Given the description of an element on the screen output the (x, y) to click on. 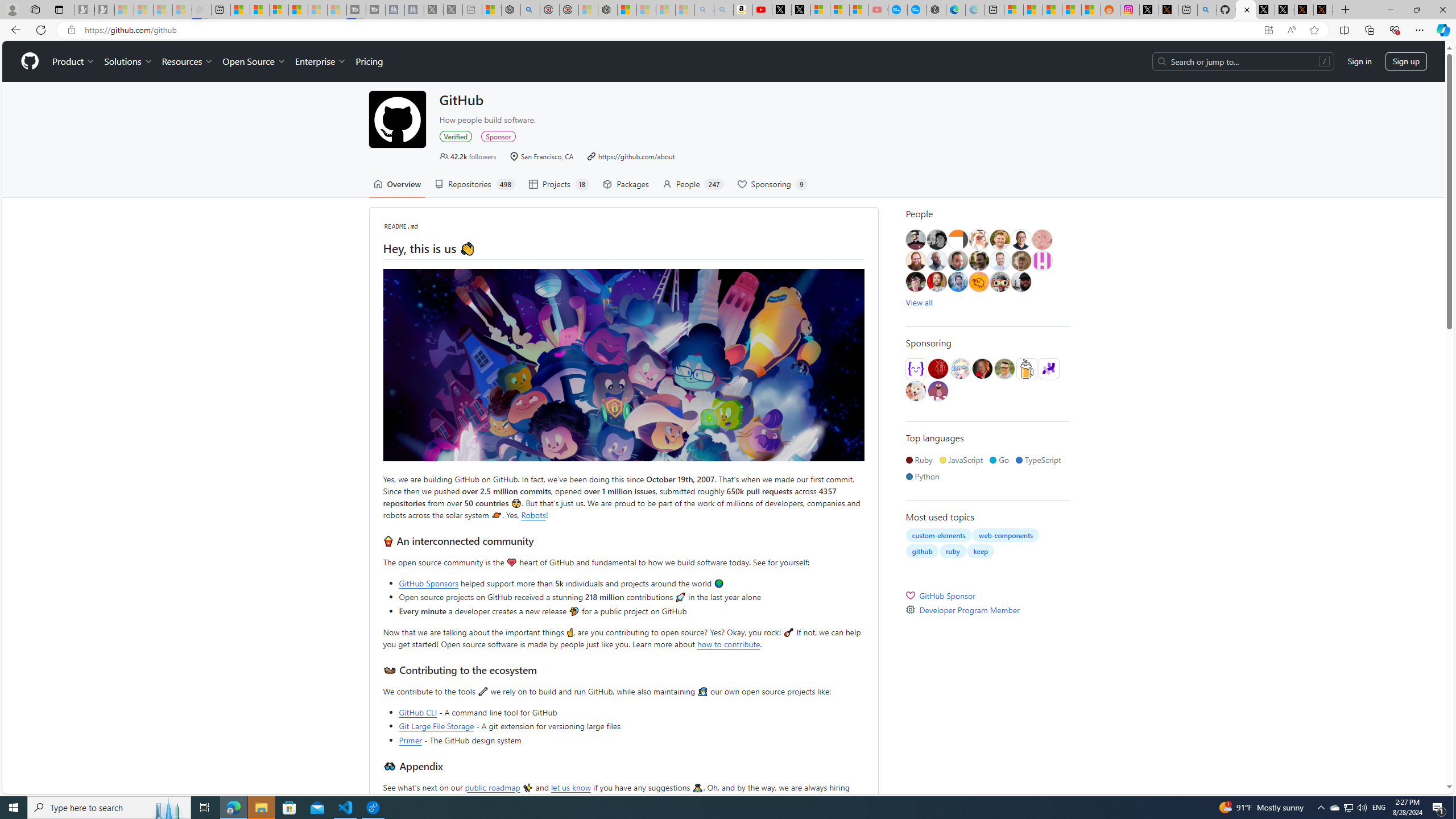
Sponsoring9 (772, 184)
@its-a-feature (937, 368)
@dcreager (915, 281)
View all (919, 301)
@kjg (1000, 239)
Overview (397, 184)
People247 (693, 184)
